Given the description of an element on the screen output the (x, y) to click on. 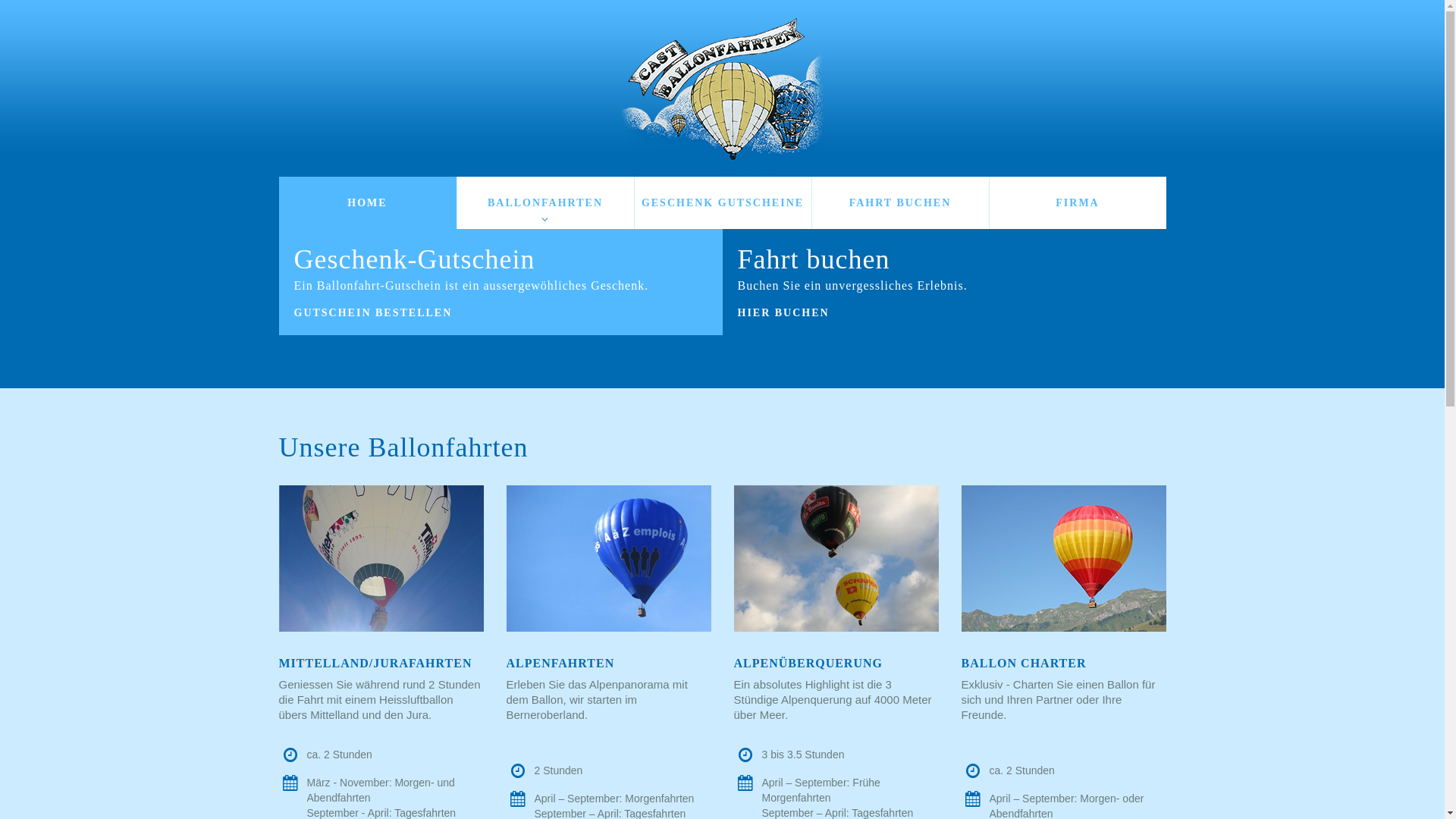
FAHRT BUCHEN Element type: text (899, 202)
BALLONFAHRTEN Element type: text (544, 202)
HOME Element type: text (367, 202)
GUTSCHEIN BESTELLEN Element type: text (377, 313)
HIER BUCHEN Element type: text (787, 313)
FIRMA Element type: text (1076, 202)
Ballonswiss Cast-Ballonfahrten Element type: hover (722, 93)
GESCHENK GUTSCHEINE Element type: text (721, 202)
